Given the description of an element on the screen output the (x, y) to click on. 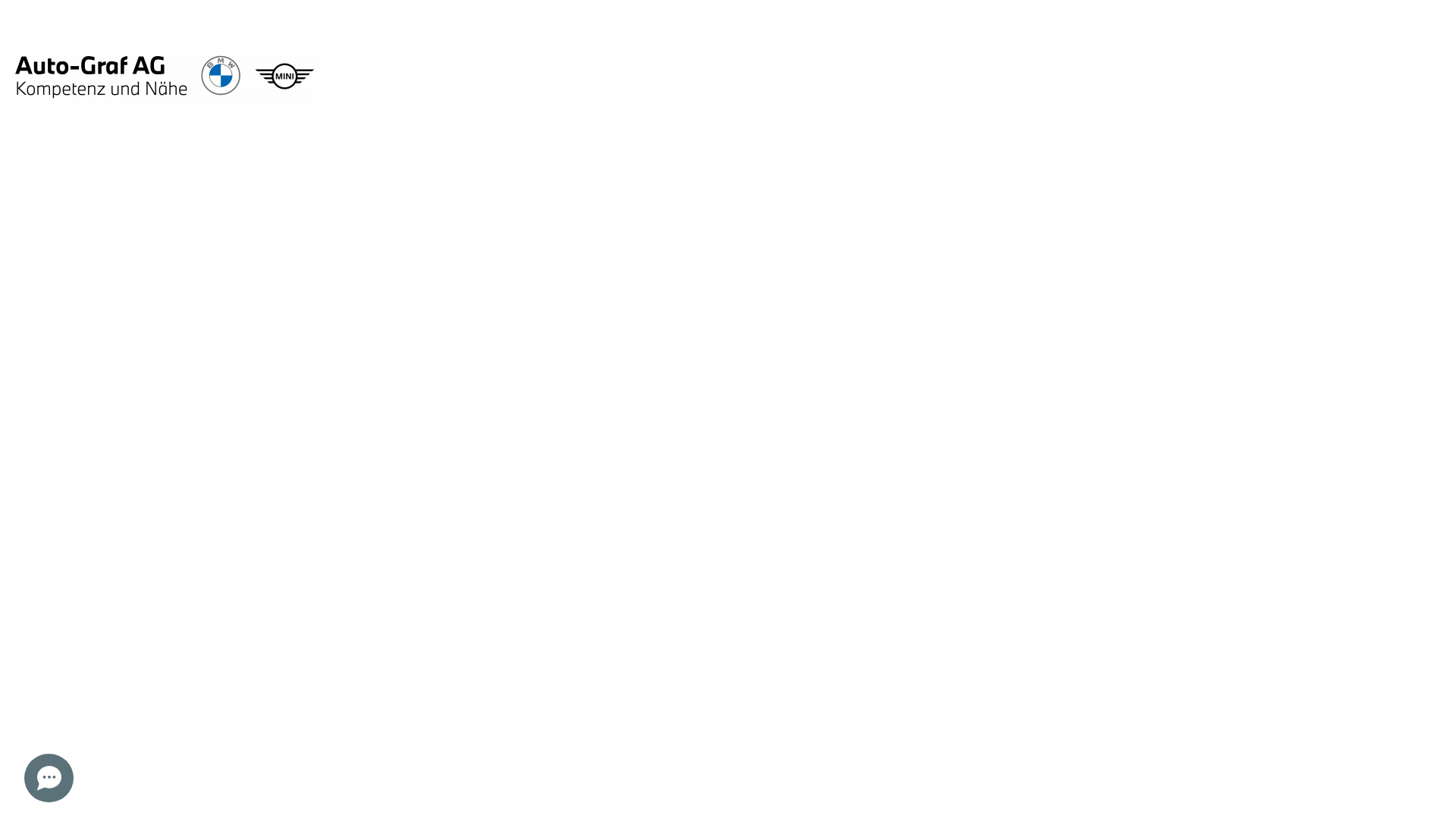
Auto_Graf_Neues_Logo-kombi-bmw-mini.53e370b4 Element type: hover (166, 78)
